Given the description of an element on the screen output the (x, y) to click on. 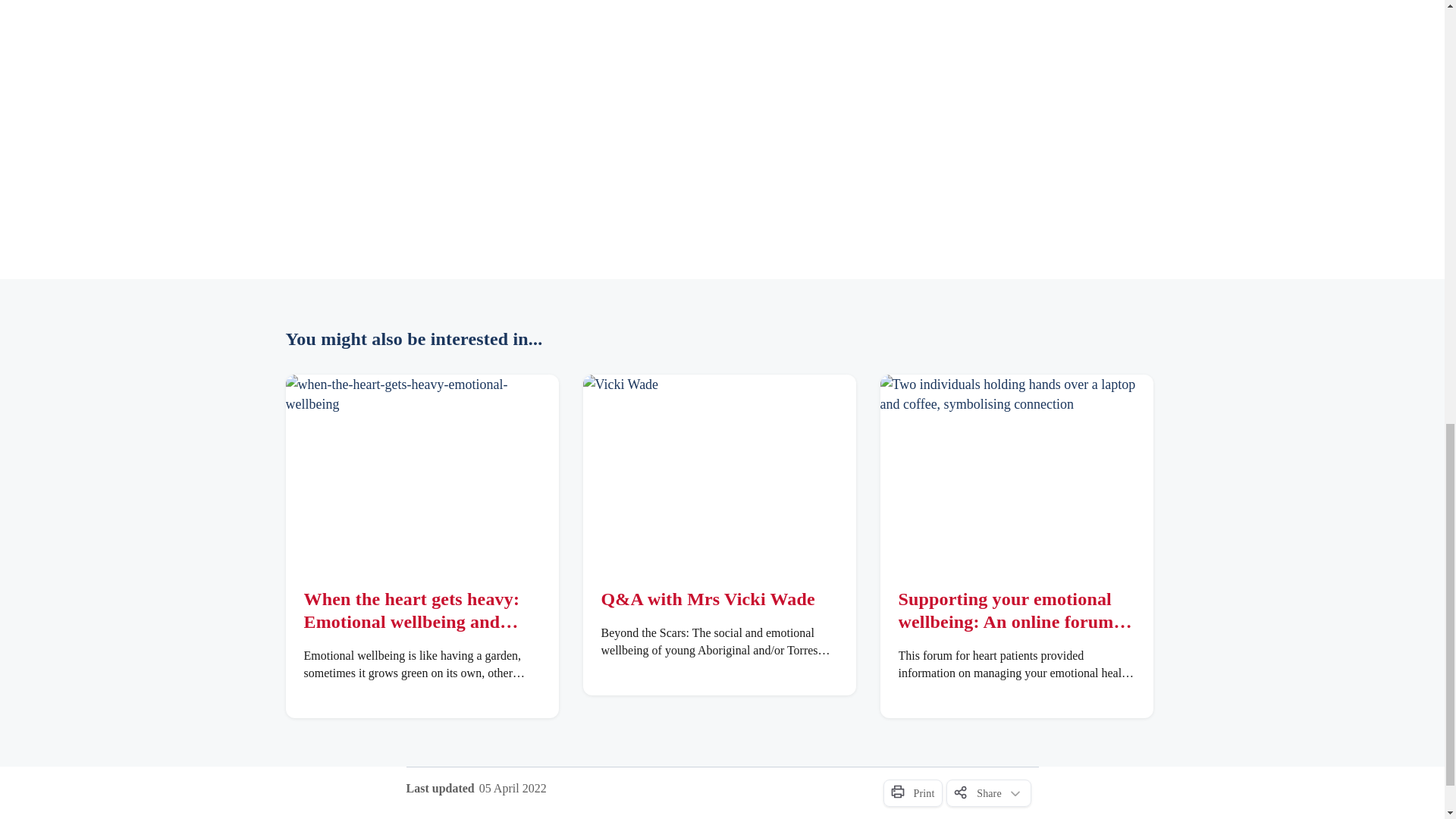
Print (912, 792)
Share (988, 792)
